Given the description of an element on the screen output the (x, y) to click on. 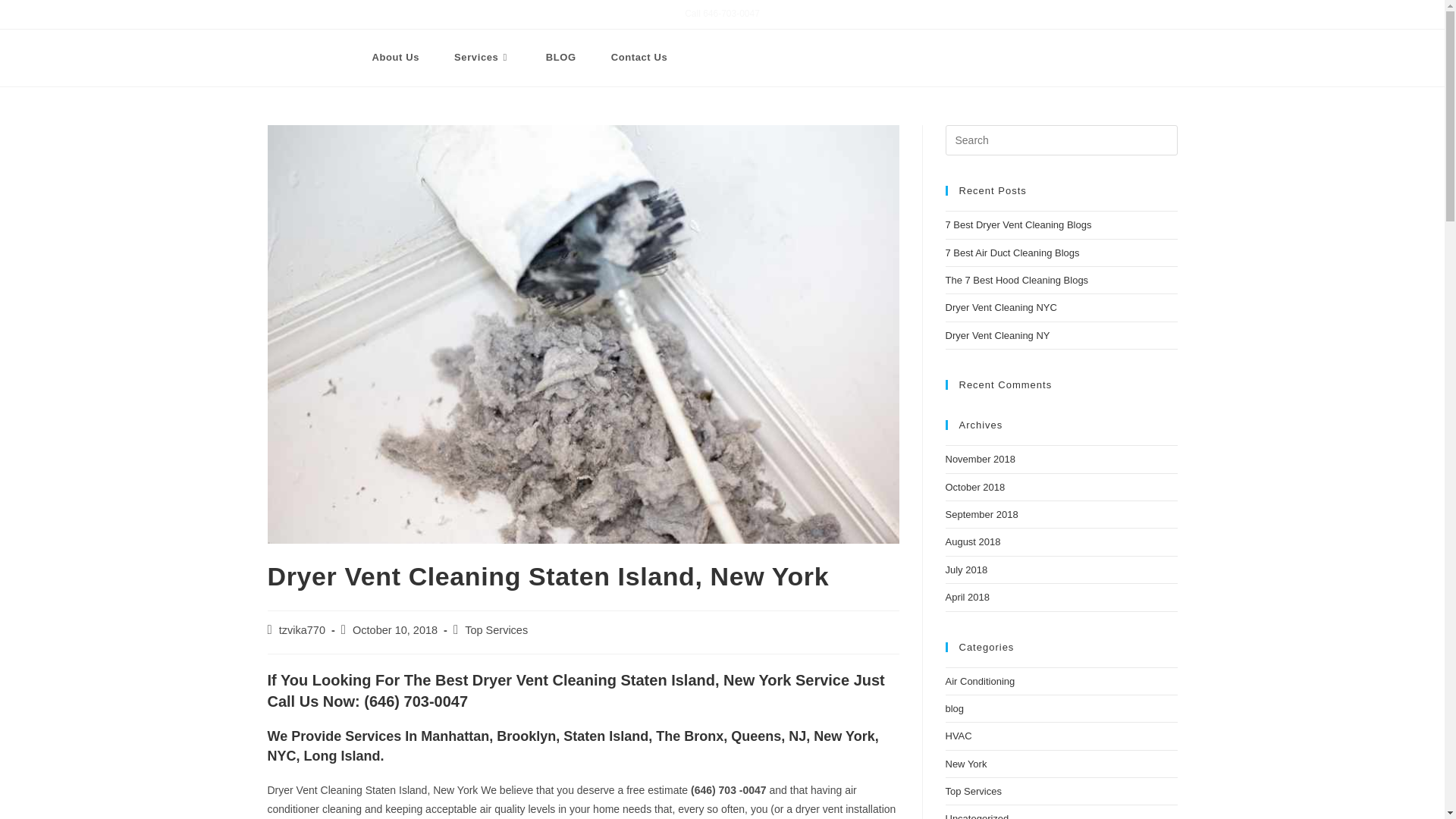
Services (482, 57)
Call 646-703-0047 (722, 13)
Top Services (495, 630)
Posts by tzvika770 (301, 630)
7 Best Air Duct Cleaning Blogs (1011, 252)
tzvika770 (301, 630)
Contact Us (639, 57)
BLOG (561, 57)
7 Best Dryer Vent Cleaning Blogs (1017, 224)
About Us (396, 57)
